Given the description of an element on the screen output the (x, y) to click on. 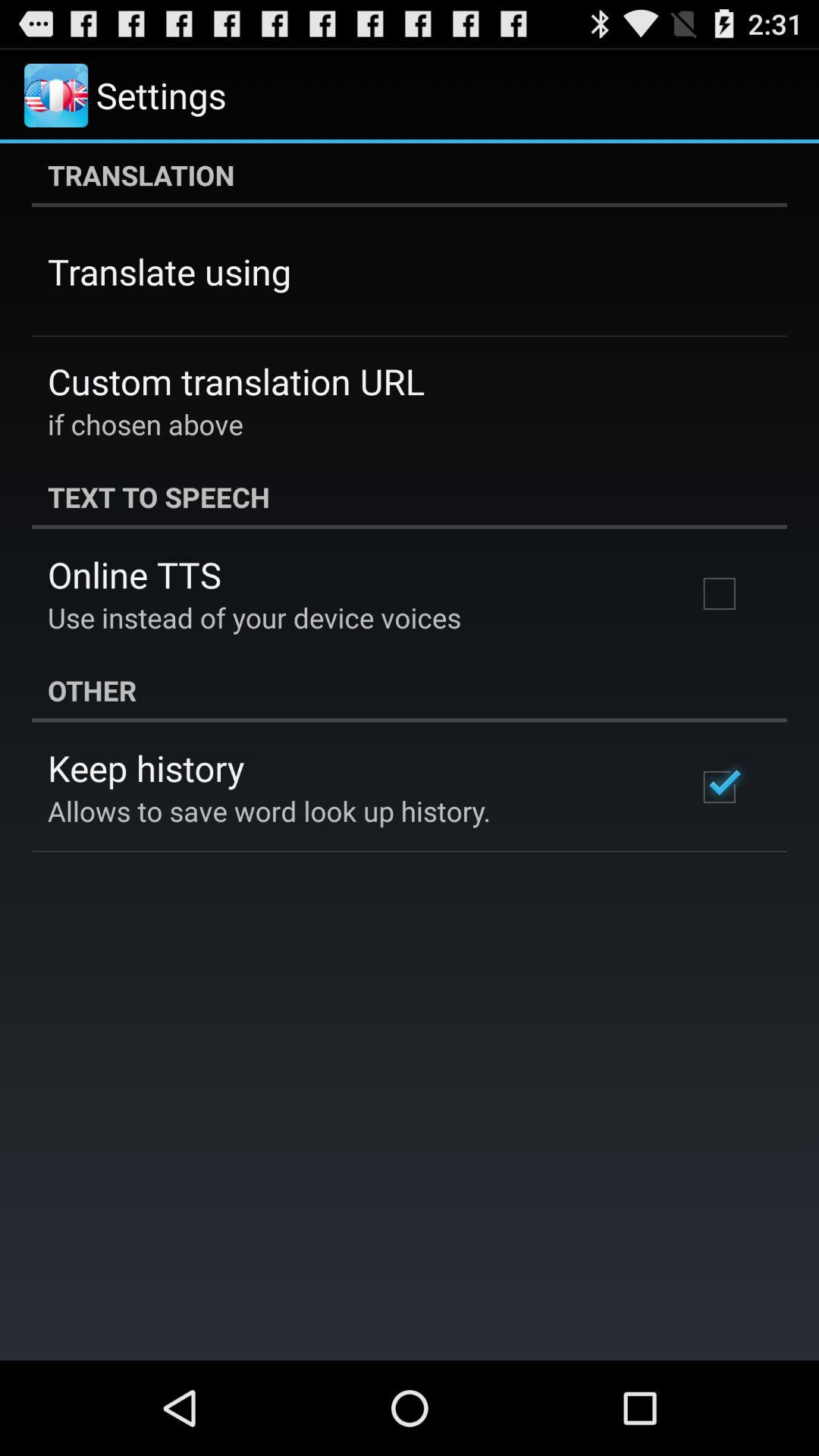
click use instead of icon (254, 617)
